Given the description of an element on the screen output the (x, y) to click on. 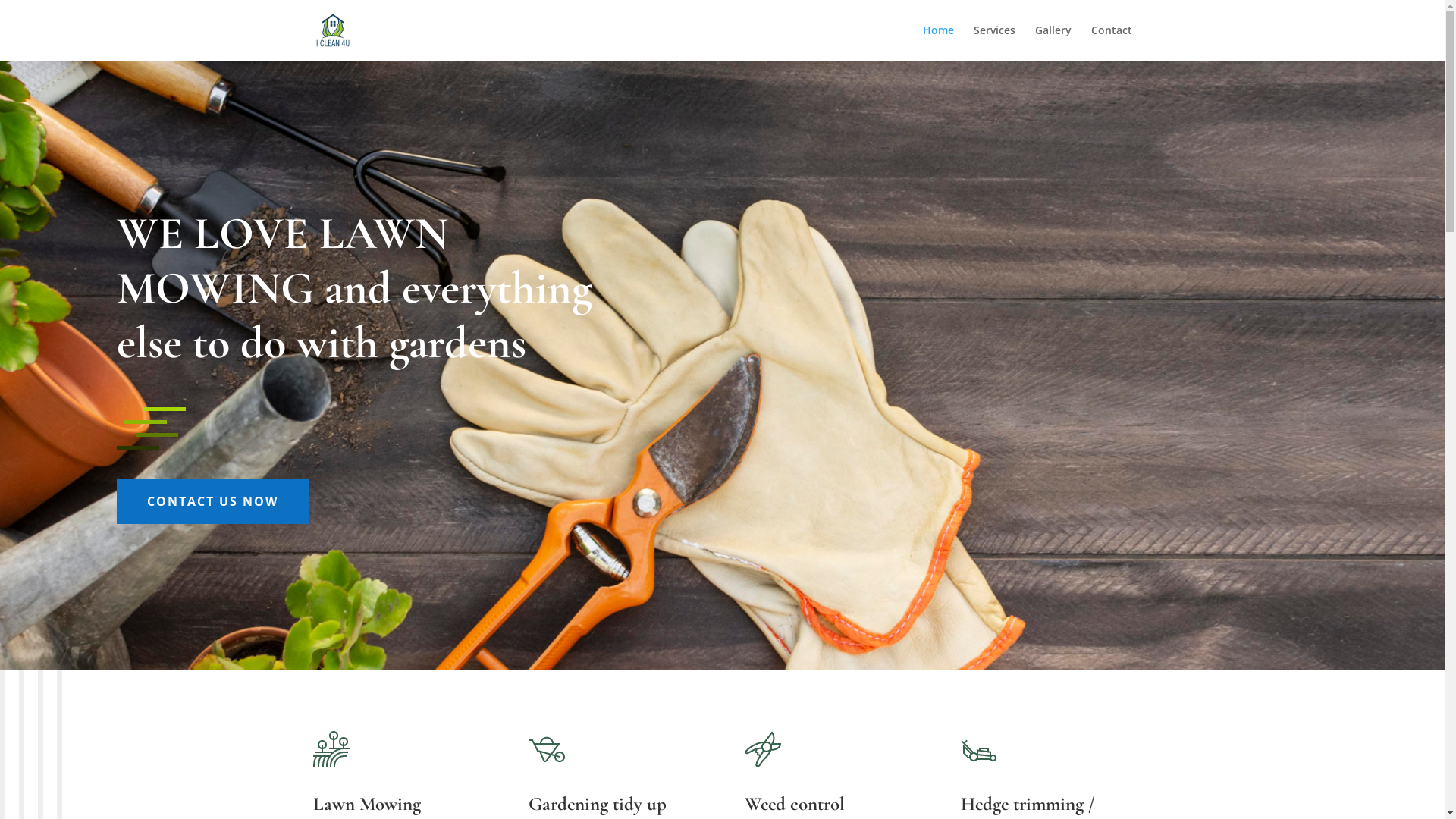
CONTACT US NOW Element type: text (212, 501)
Contact Element type: text (1110, 42)
gardening-icon-green-03 Element type: hover (978, 749)
gardening-icon-green-04 Element type: hover (546, 749)
Services Element type: text (994, 42)
Gallery Element type: text (1052, 42)
Home Element type: text (937, 42)
